Given the description of an element on the screen output the (x, y) to click on. 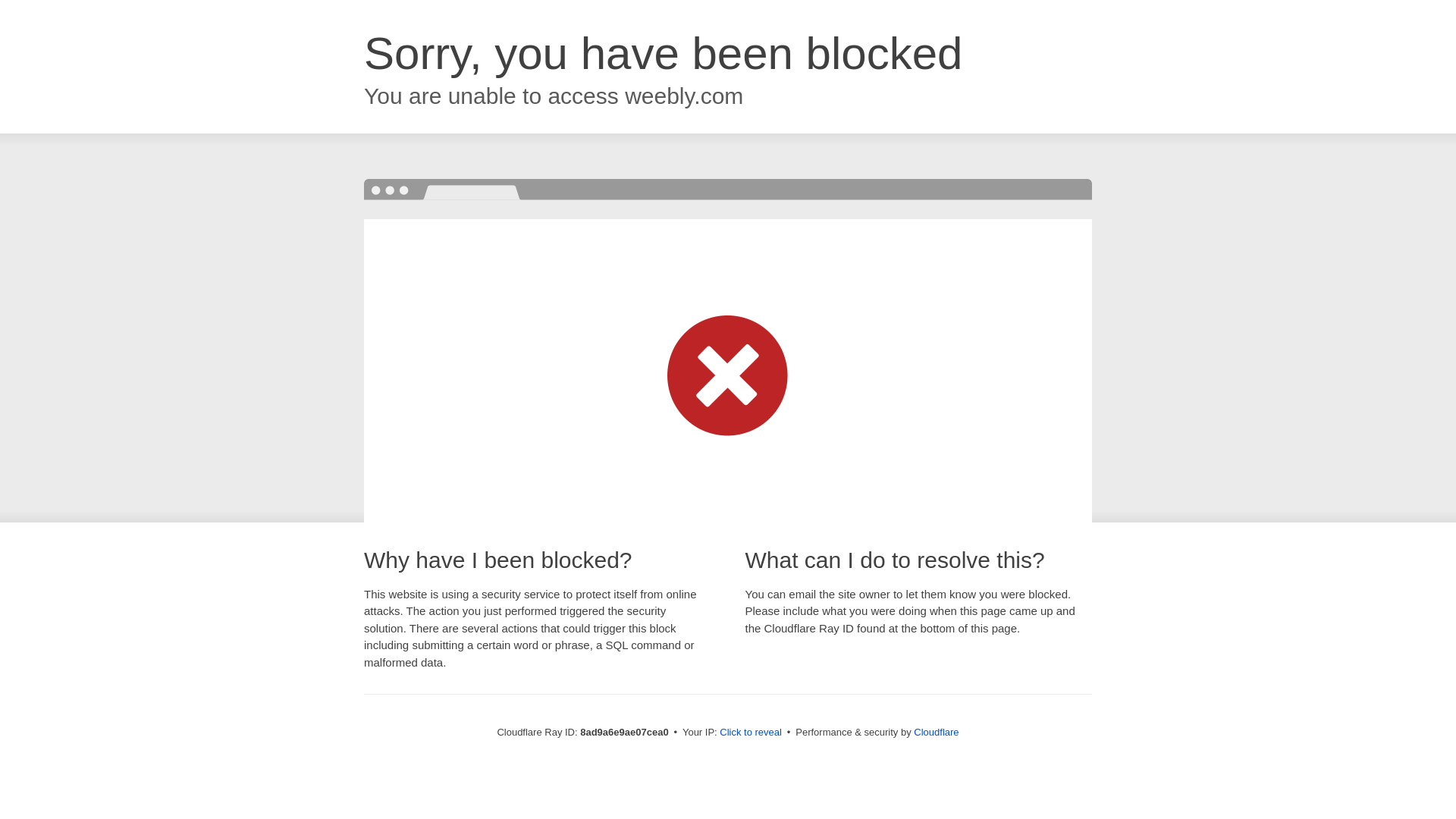
Cloudflare (936, 731)
Click to reveal (750, 732)
